Given the description of an element on the screen output the (x, y) to click on. 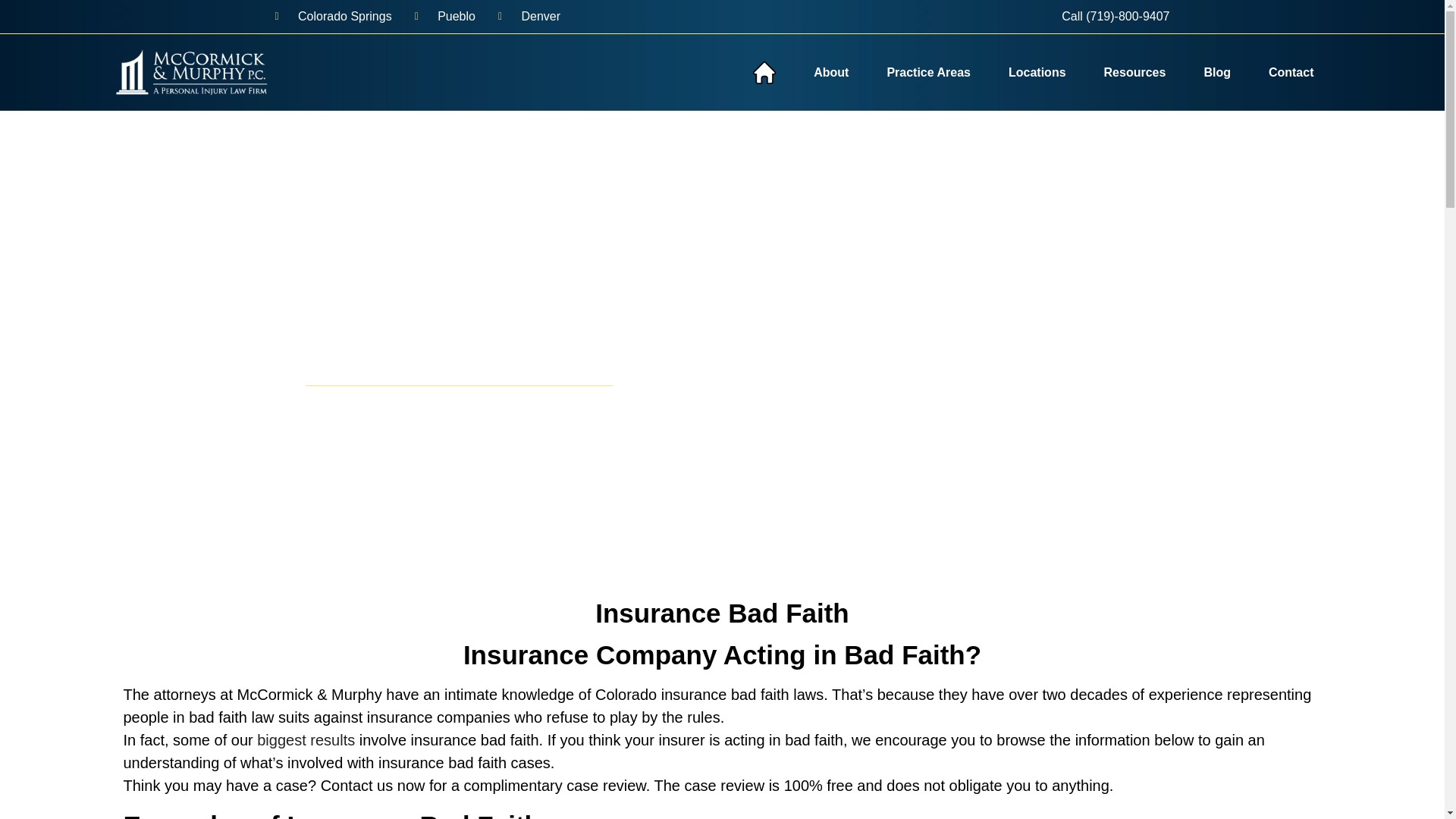
Resources (1134, 72)
Locations (1036, 72)
Practice Areas (927, 72)
Blog (1217, 72)
Denver (528, 16)
Personal Injury Lawyers Colorado (190, 72)
Colorado Springs Personal Injury Lawyers (333, 16)
About (830, 72)
Denver Personal Injury Lawyers (528, 16)
Contact (1291, 72)
Pueblo Personal Injury Lawyers (445, 16)
Pueblo (445, 16)
Colorado Springs (333, 16)
